Given the description of an element on the screen output the (x, y) to click on. 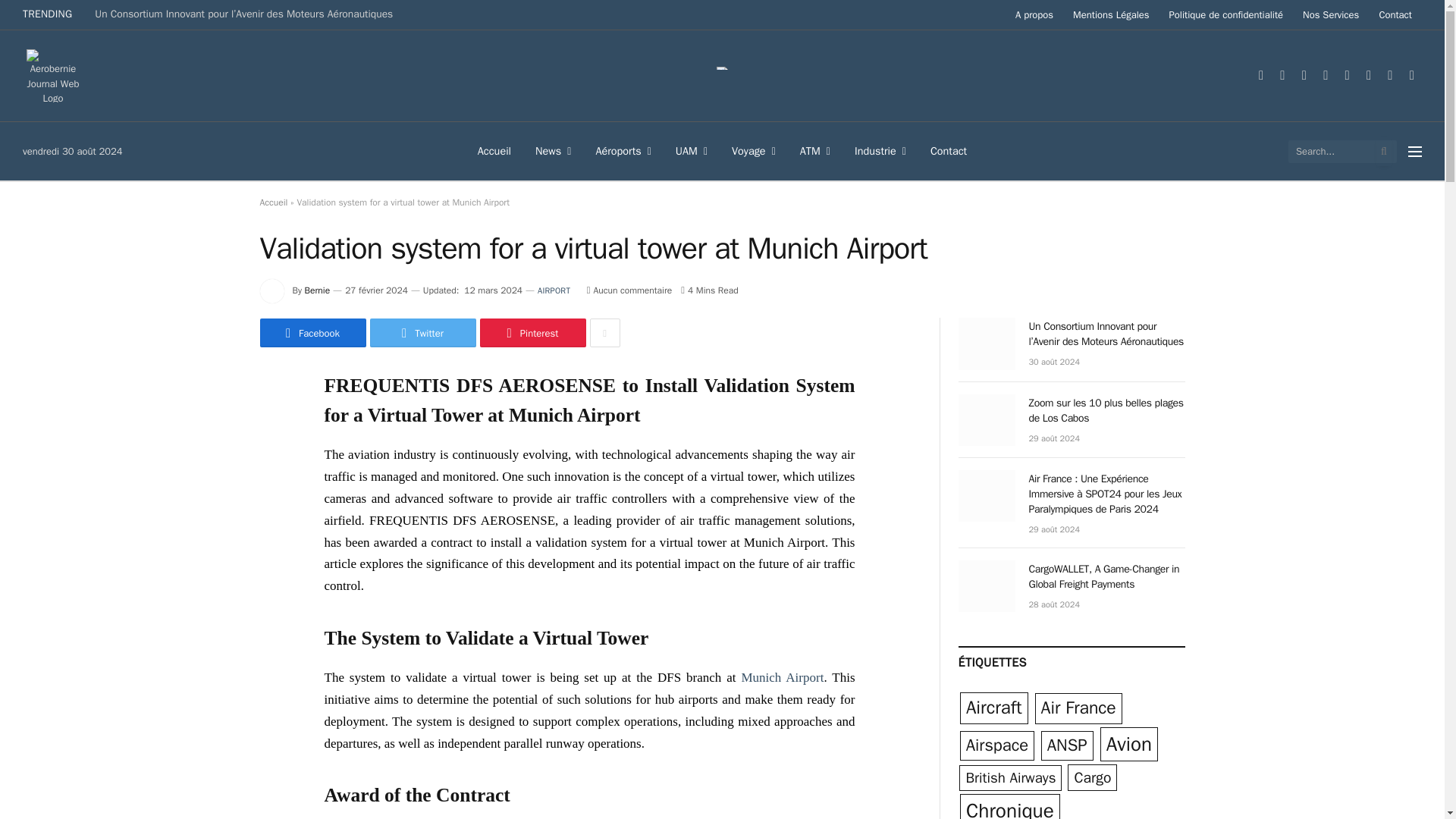
A propos (1034, 14)
Nos Services (1330, 14)
News (552, 151)
Contact (1395, 14)
Accueil (493, 151)
